Given the description of an element on the screen output the (x, y) to click on. 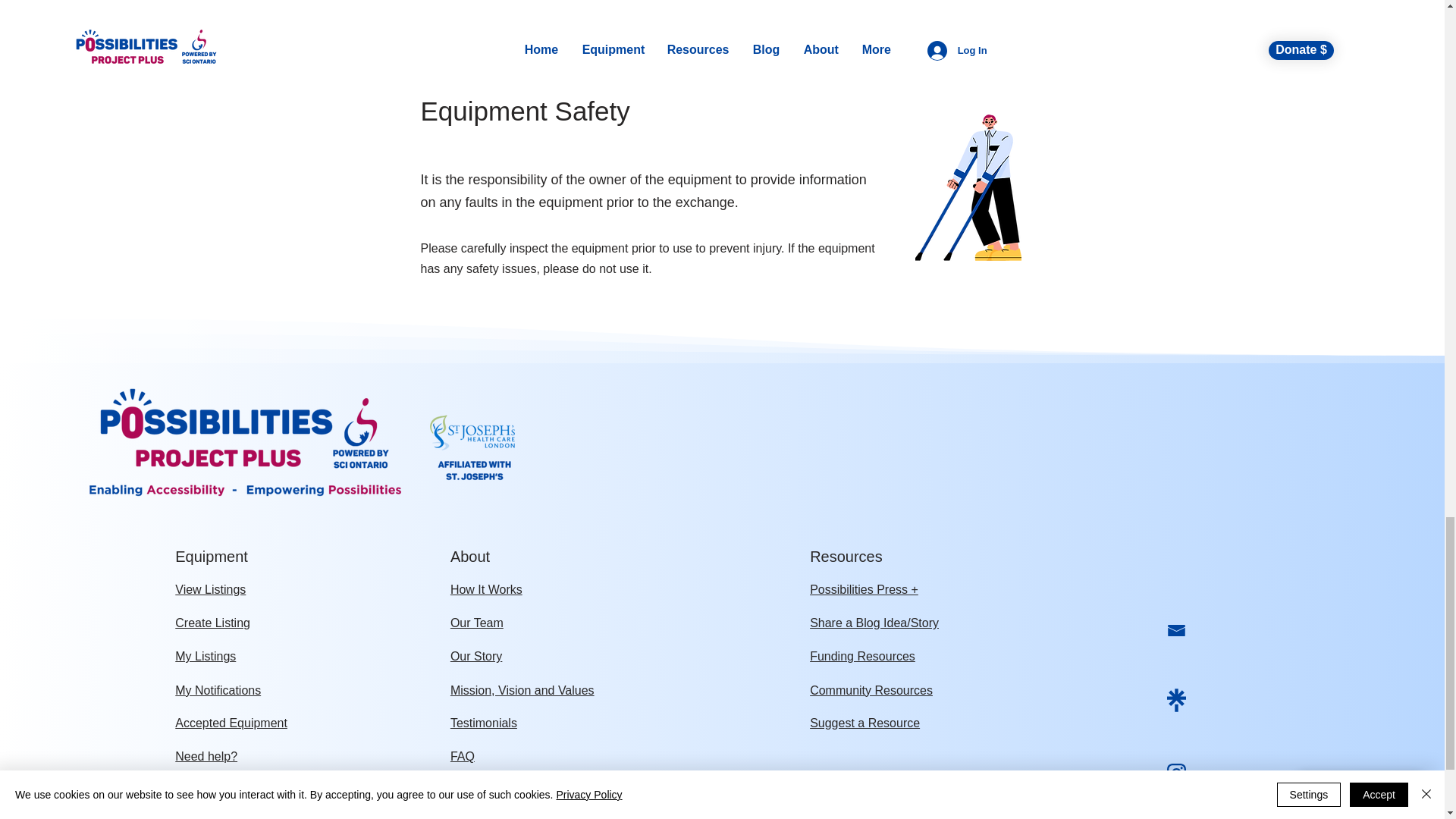
Testimonials (482, 722)
Accepted Equipment (230, 722)
Our Team (476, 622)
Health and Safety (498, 789)
Create Listing (212, 622)
My Notifications (217, 689)
Need help? (205, 756)
How It Works (485, 589)
View Listings (210, 589)
FAQ (461, 756)
